Given the description of an element on the screen output the (x, y) to click on. 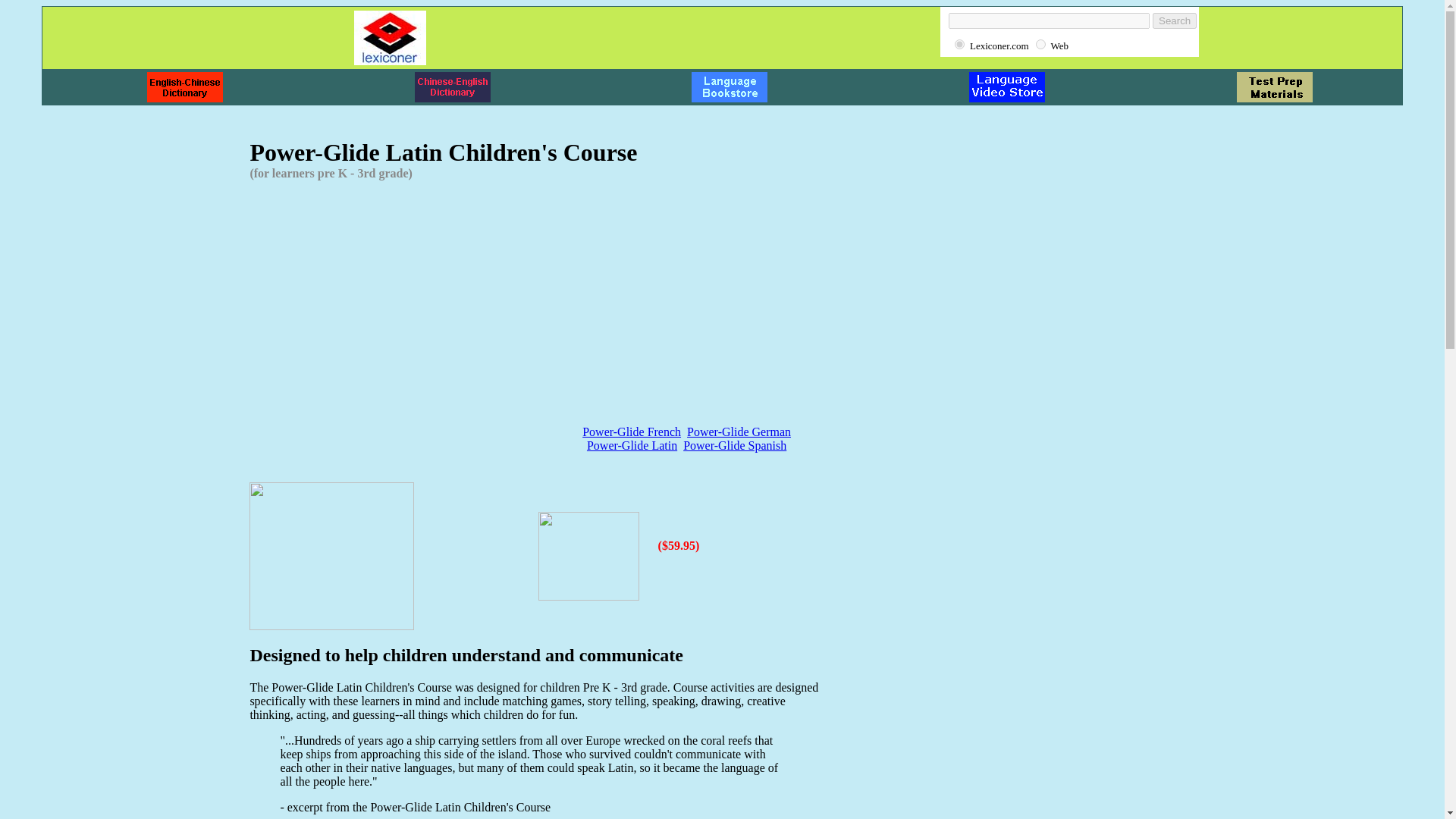
Power-Glide French (631, 431)
Lexiconer.com (959, 44)
Search (1174, 19)
Power-Glide Spanish (734, 445)
Advertisement (375, 303)
Power-Glide German (738, 431)
Search (1174, 19)
Power-Glide Latin (631, 445)
